Given the description of an element on the screen output the (x, y) to click on. 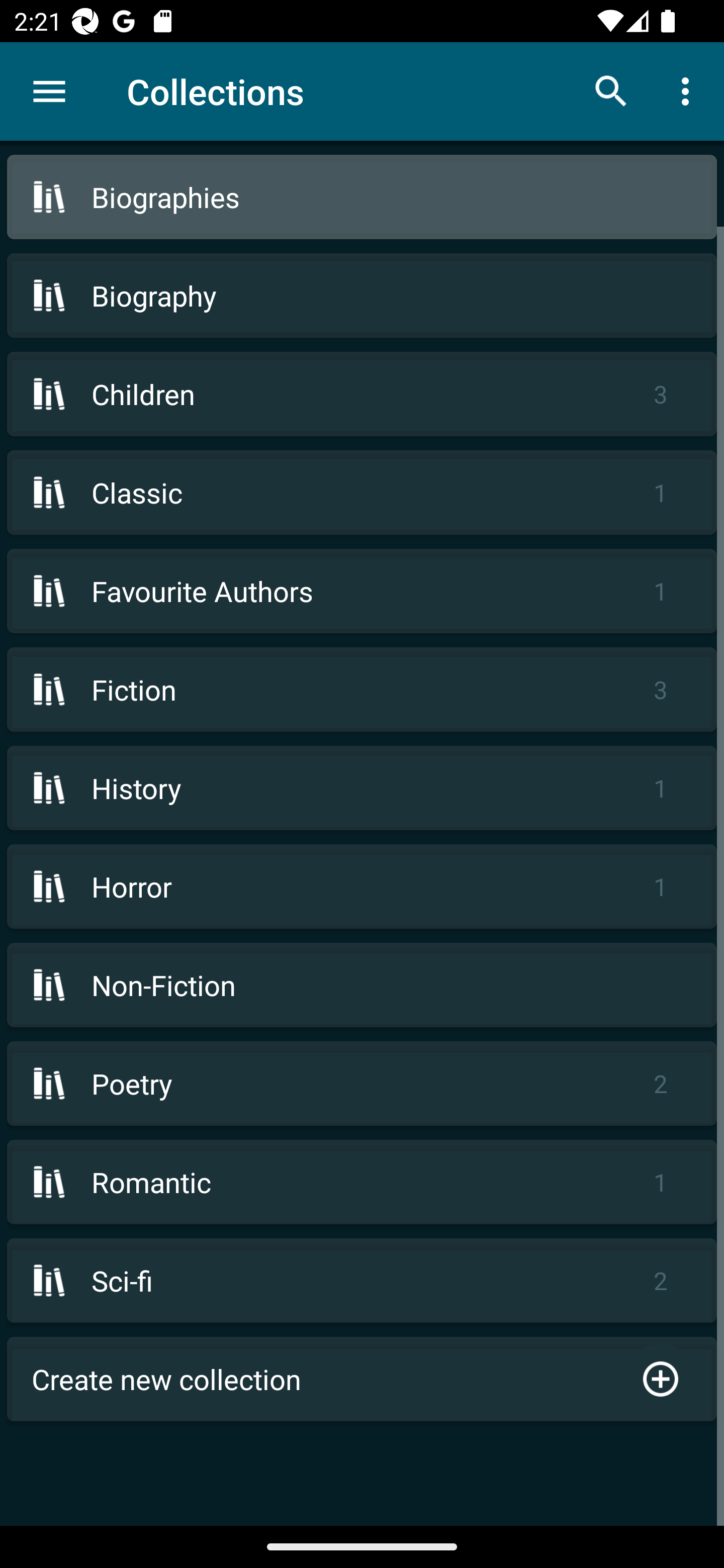
Menu (49, 91)
Search books & documents (611, 90)
More options (688, 90)
Biographies (361, 197)
Biography (361, 295)
Children 3 (361, 393)
Classic 1 (361, 492)
Favourite Authors 1 (361, 590)
Fiction 3 (361, 689)
History 1 (361, 787)
Horror 1 (361, 885)
Non-Fiction (361, 984)
Poetry 2 (361, 1083)
Romantic 1 (361, 1181)
Sci-fi 2 (361, 1280)
Create new collection (361, 1378)
